Given the description of an element on the screen output the (x, y) to click on. 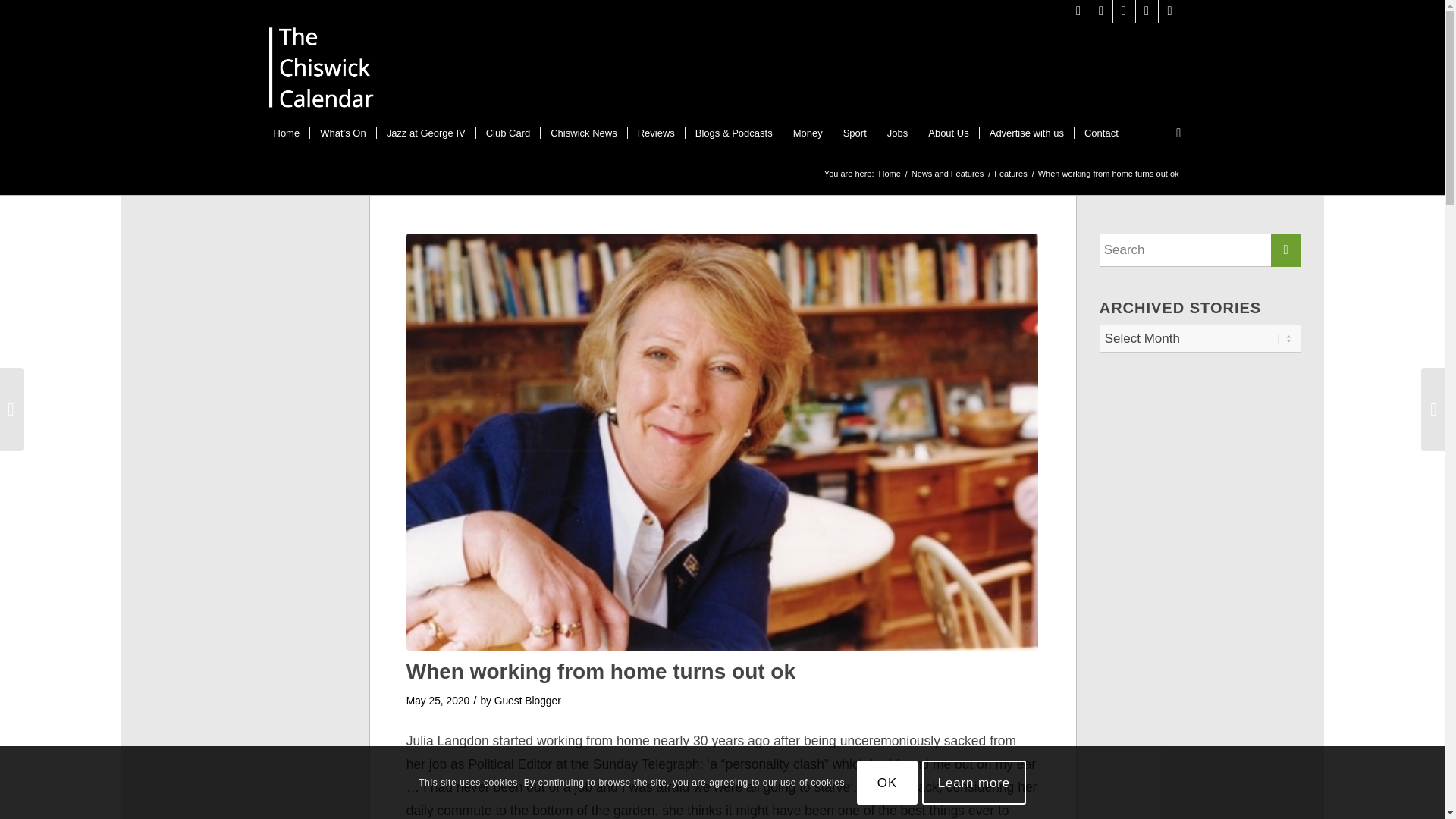
Youtube (1146, 11)
Mail (1169, 11)
X (1078, 11)
Home (286, 133)
Facebook (1124, 11)
Instagram (1101, 11)
TCC-white-on-white (321, 70)
